Given the description of an element on the screen output the (x, y) to click on. 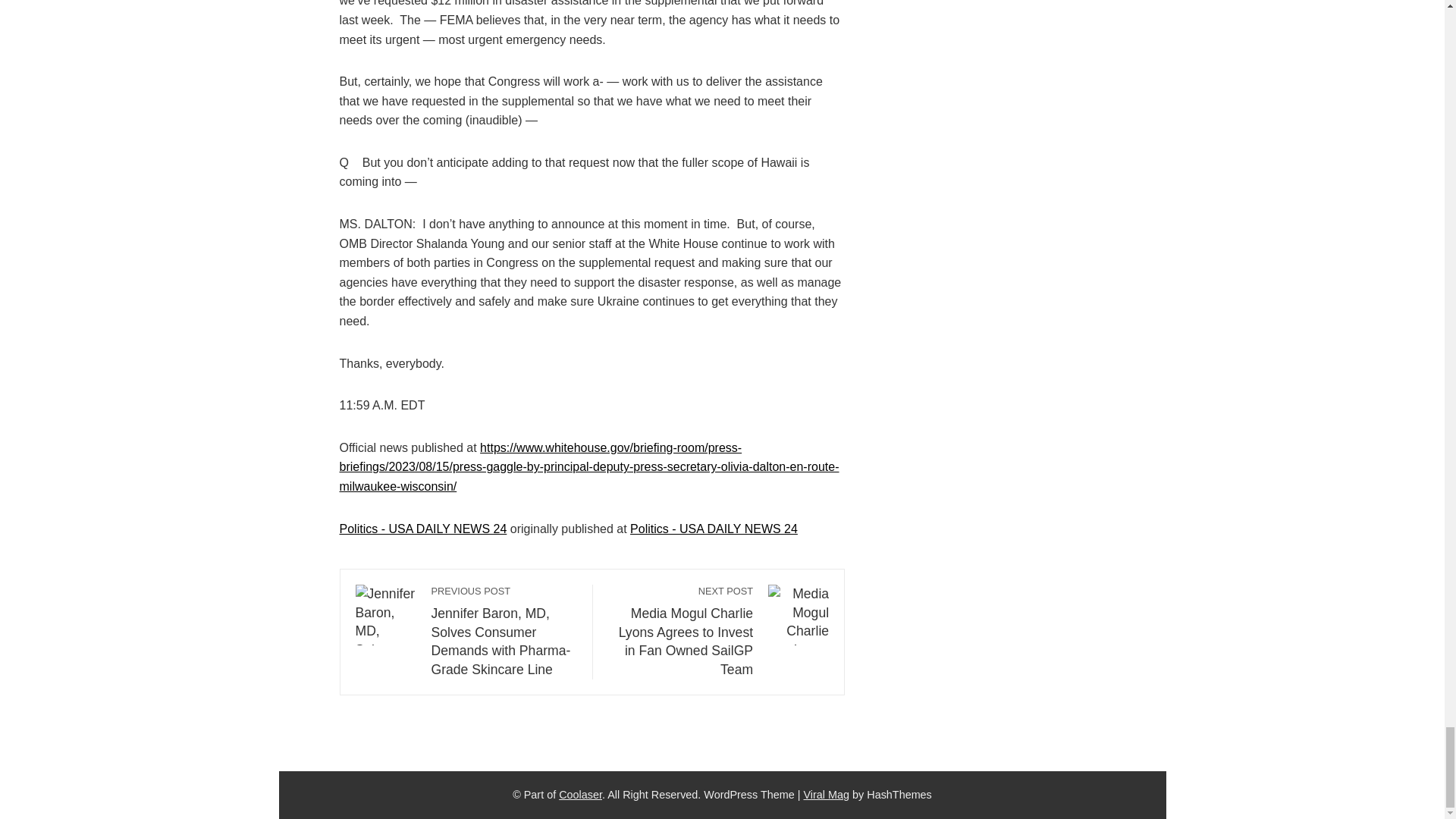
Download Viral News (826, 794)
Politics - USA DAILY NEWS 24 (422, 528)
Politics - USA DAILY NEWS 24 (713, 528)
